Given the description of an element on the screen output the (x, y) to click on. 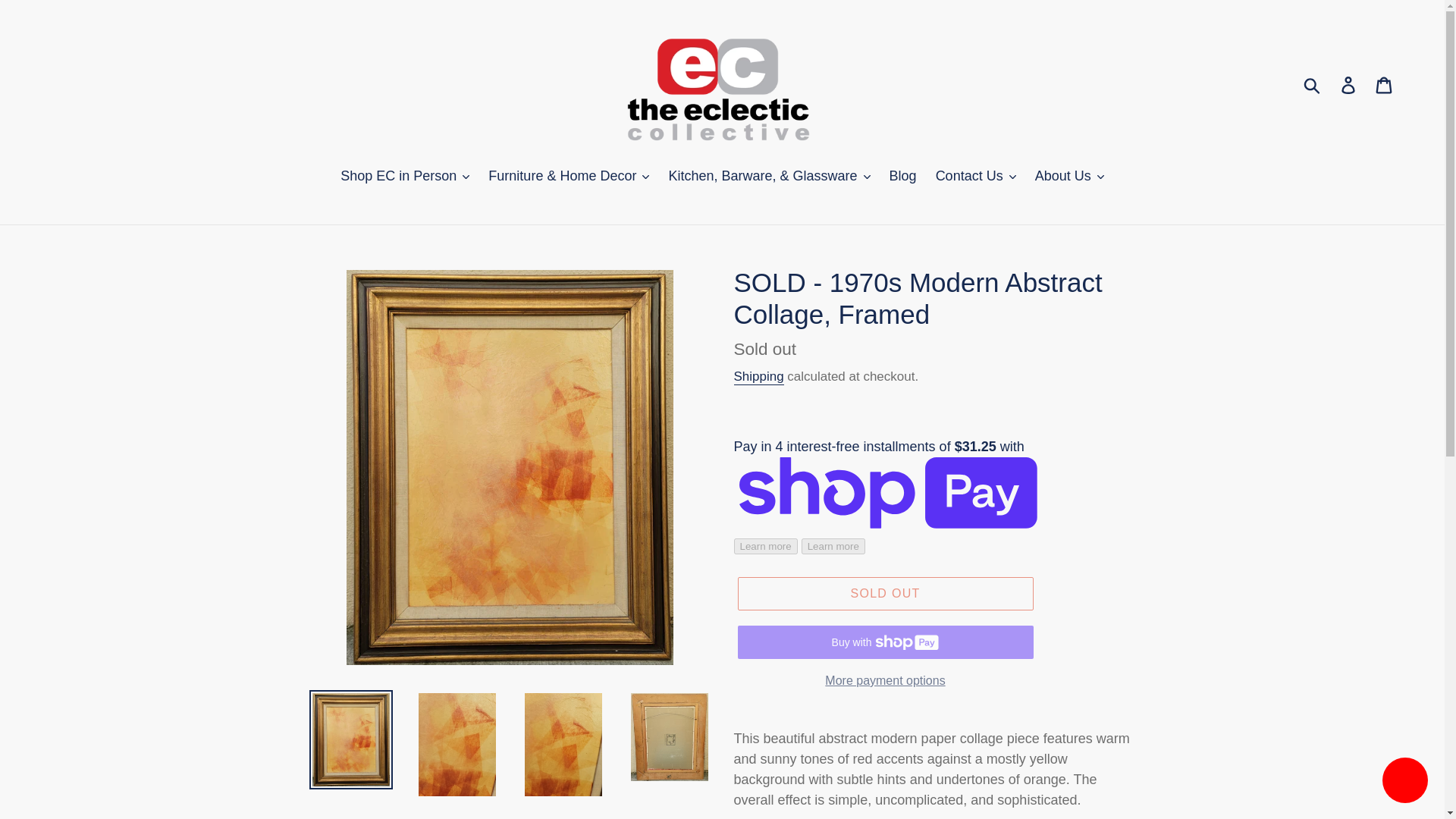
Log in (1349, 84)
Cart (1385, 84)
Submit (1313, 84)
Shopify online store chat (1404, 781)
